Given the description of an element on the screen output the (x, y) to click on. 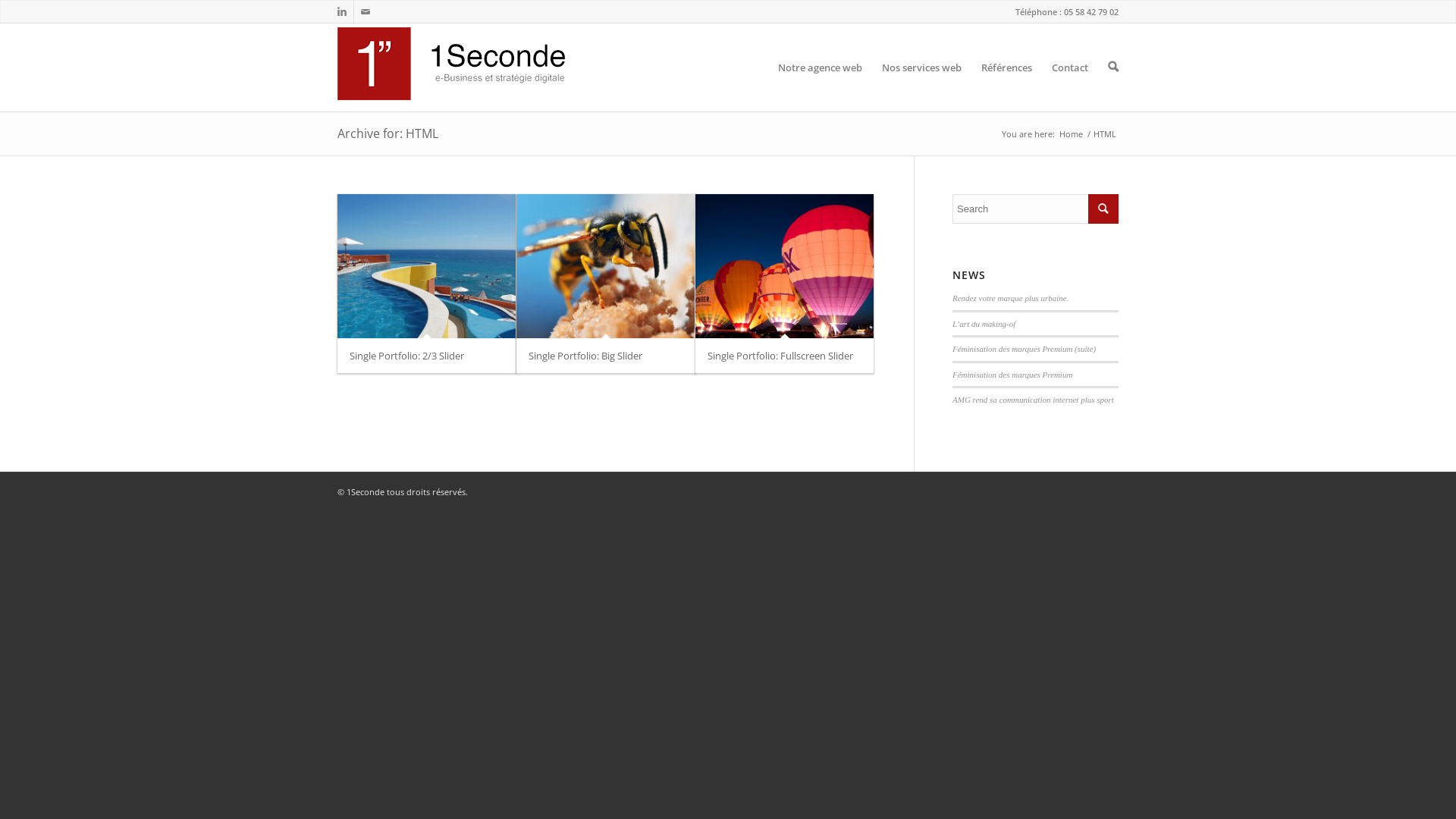
Home Element type: text (1071, 133)
Single Portfolio: Big Slider Element type: text (585, 355)
Archive for: HTML Element type: text (387, 133)
Contact Element type: text (1069, 67)
Notre agence web Element type: text (820, 67)
AMG rend sa communication internet plus sport Element type: text (1032, 399)
Single Portfolio: Fullscreen Slider Element type: text (780, 355)
Rendez votre marque plus urbaine. Element type: text (1010, 297)
Nos services web Element type: text (921, 67)
Single Portfolio: Fullscreen Slider Element type: hover (784, 266)
Single Portfolio: 2/3 Slider Element type: hover (426, 266)
Single Portfolio: Big Slider Element type: hover (605, 266)
Single Portfolio: 2/3 Slider Element type: text (406, 355)
